Given the description of an element on the screen output the (x, y) to click on. 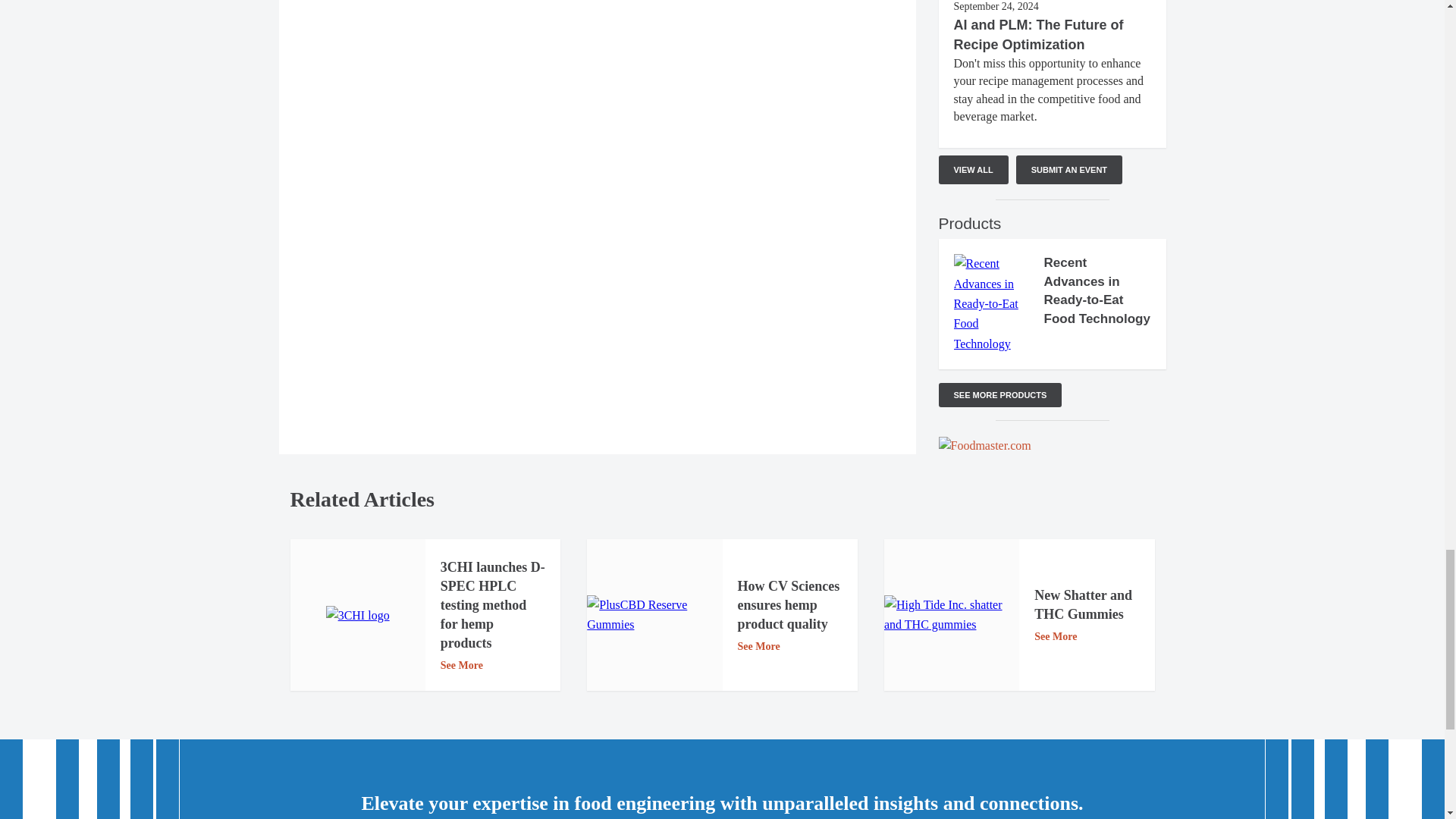
AI and PLM: The Future of Recipe Optimization (1038, 34)
3CHI logo.jpg (358, 615)
High Tide Inc. shatter and THC gummies (951, 615)
PlusCBD Reserve Gummies (654, 615)
